Given the description of an element on the screen output the (x, y) to click on. 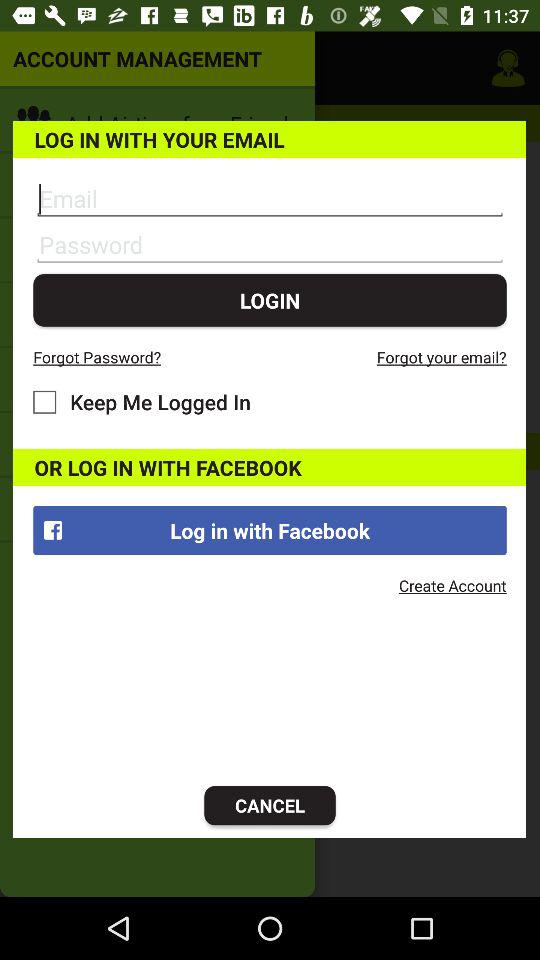
click the create account (452, 585)
